Given the description of an element on the screen output the (x, y) to click on. 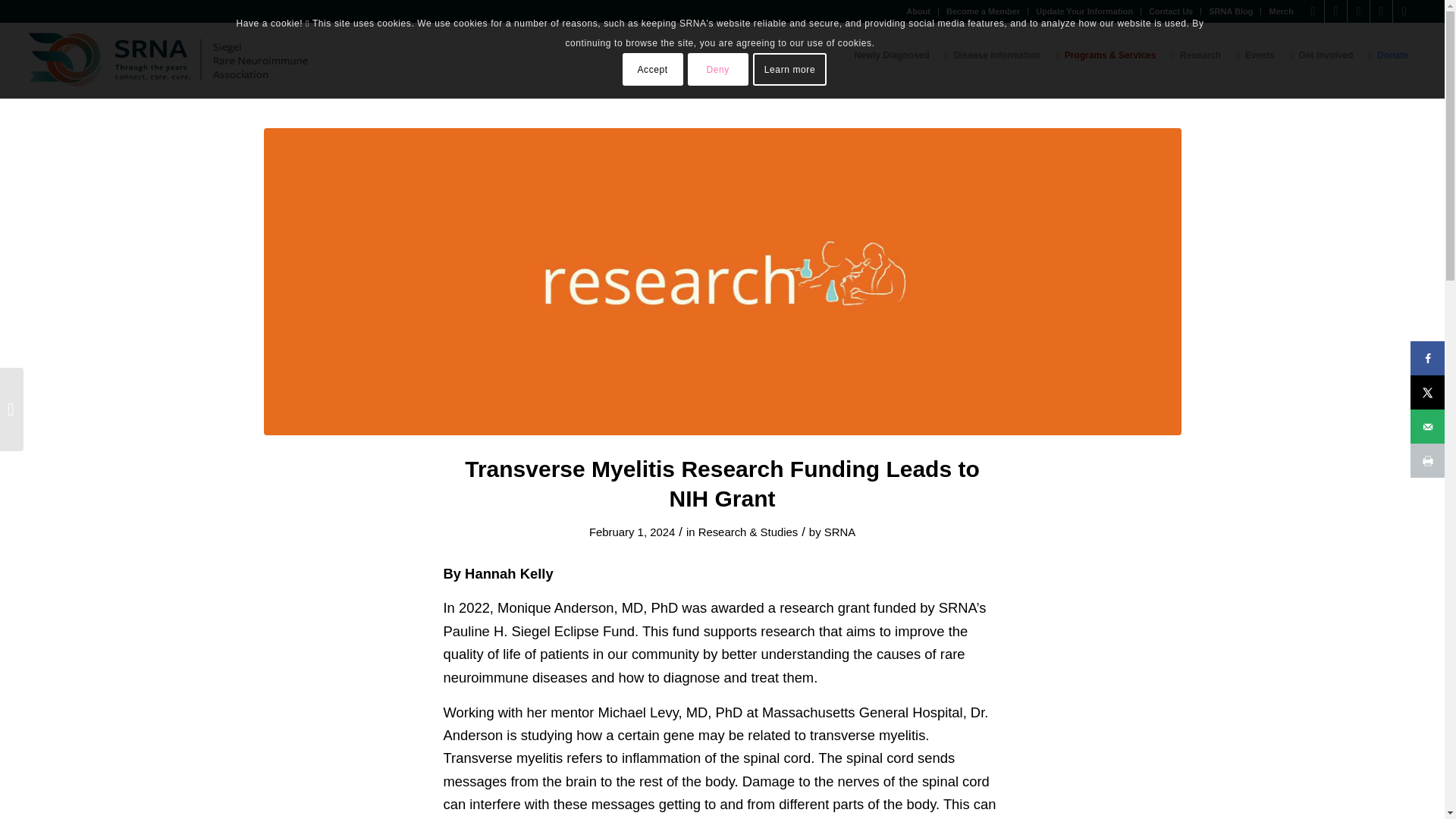
Youtube (1380, 11)
Become a Member (983, 11)
Facebook (1312, 11)
Instagram (1335, 11)
About (917, 11)
Merch (1280, 11)
X (1359, 11)
Newly Diagnosed (892, 55)
SRNA Blog (1230, 11)
Update Your Information (1083, 11)
LinkedIn (1404, 11)
Contact Us (1170, 11)
Posts by SRNA (840, 532)
